Given the description of an element on the screen output the (x, y) to click on. 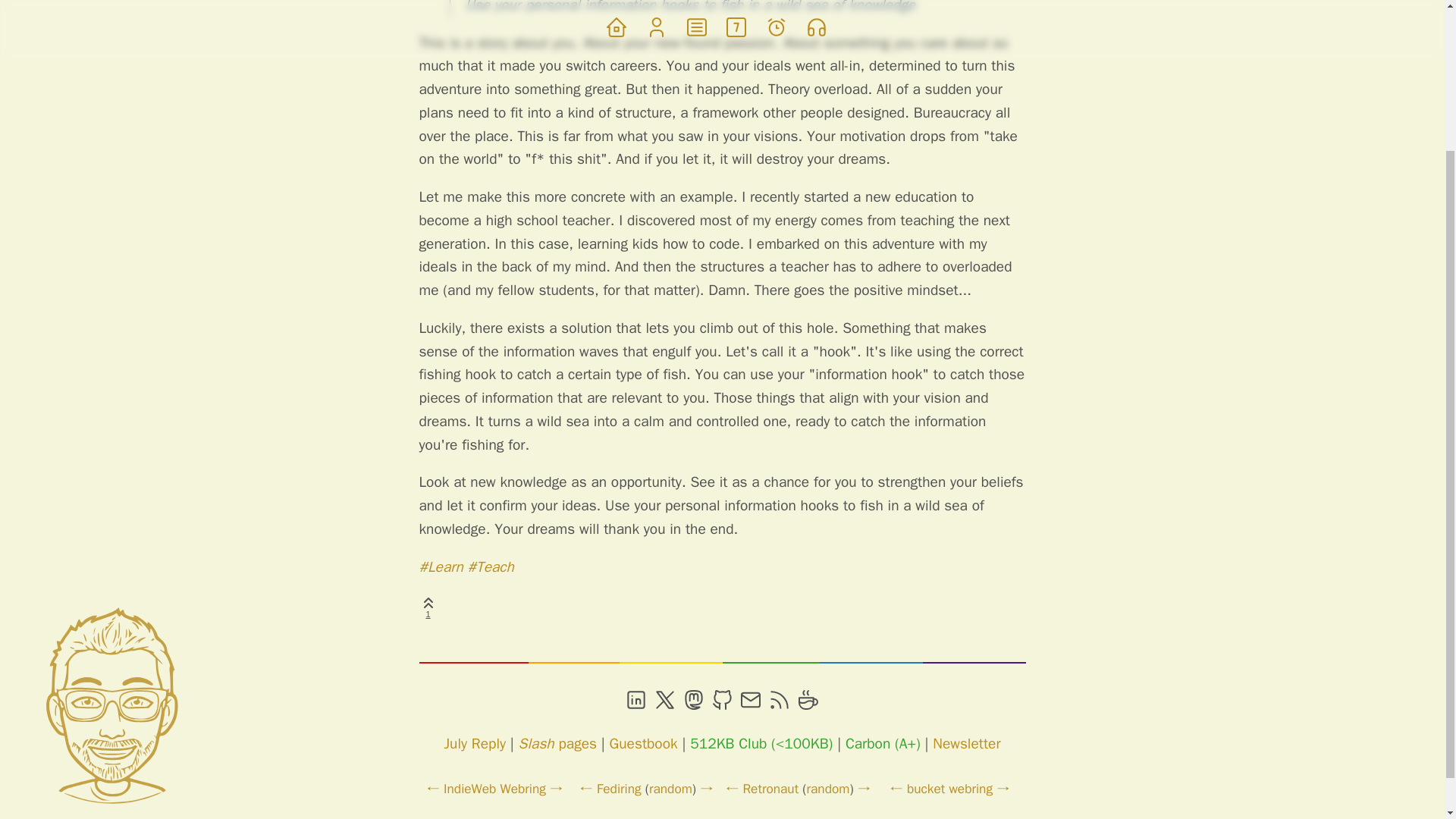
IndieWeb Webring (495, 788)
Slash pages (557, 743)
July Reply (474, 743)
